Given the description of an element on the screen output the (x, y) to click on. 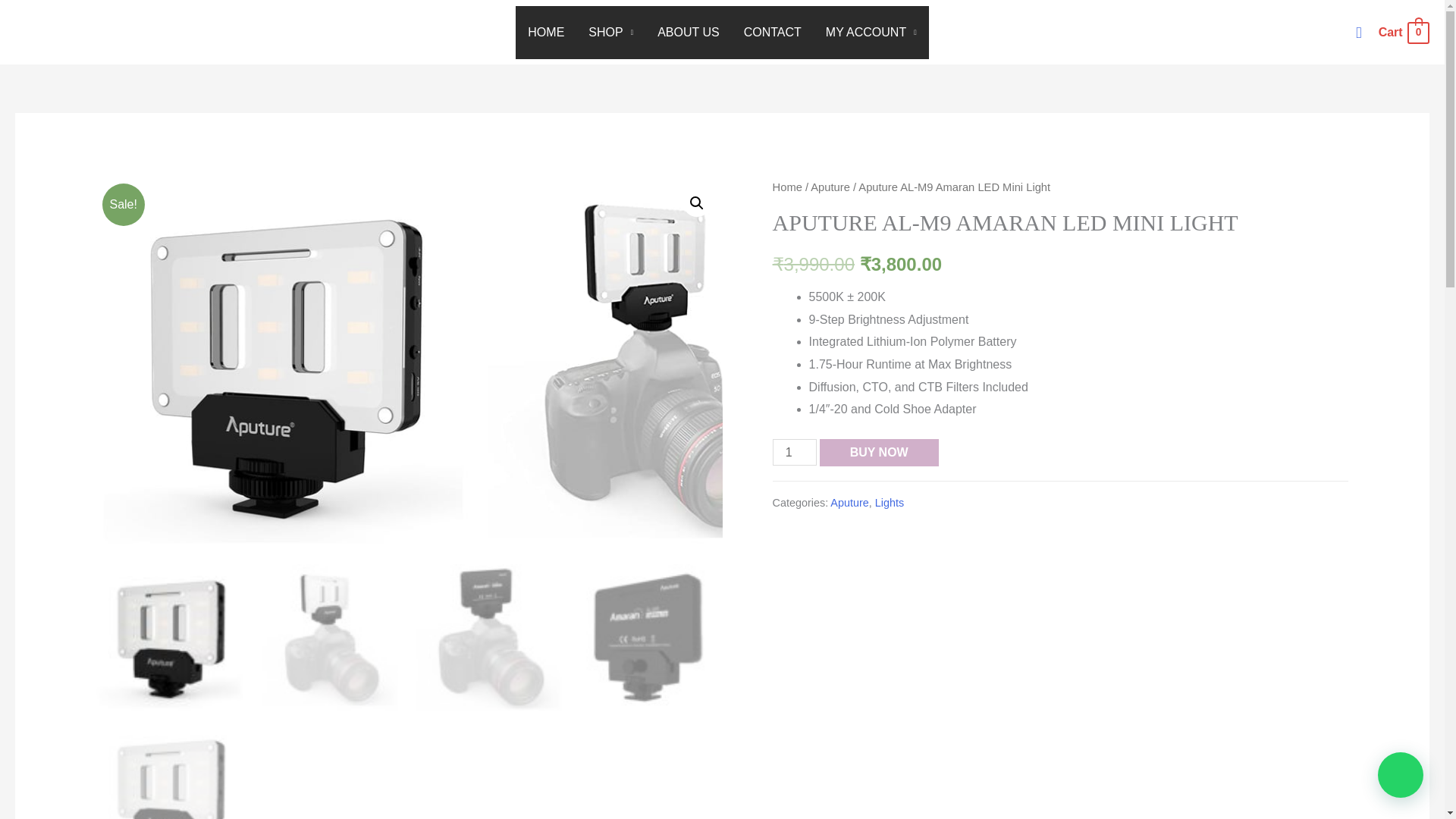
View your shopping cart (1403, 31)
HOME (545, 31)
1 (794, 452)
SHOP (610, 31)
